Given the description of an element on the screen output the (x, y) to click on. 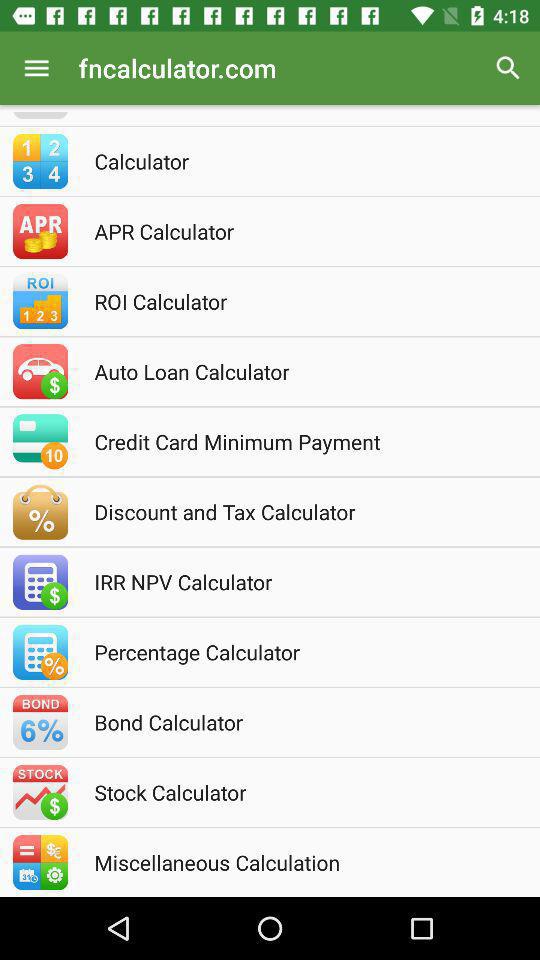
choose the auto loan calculator icon (297, 371)
